Given the description of an element on the screen output the (x, y) to click on. 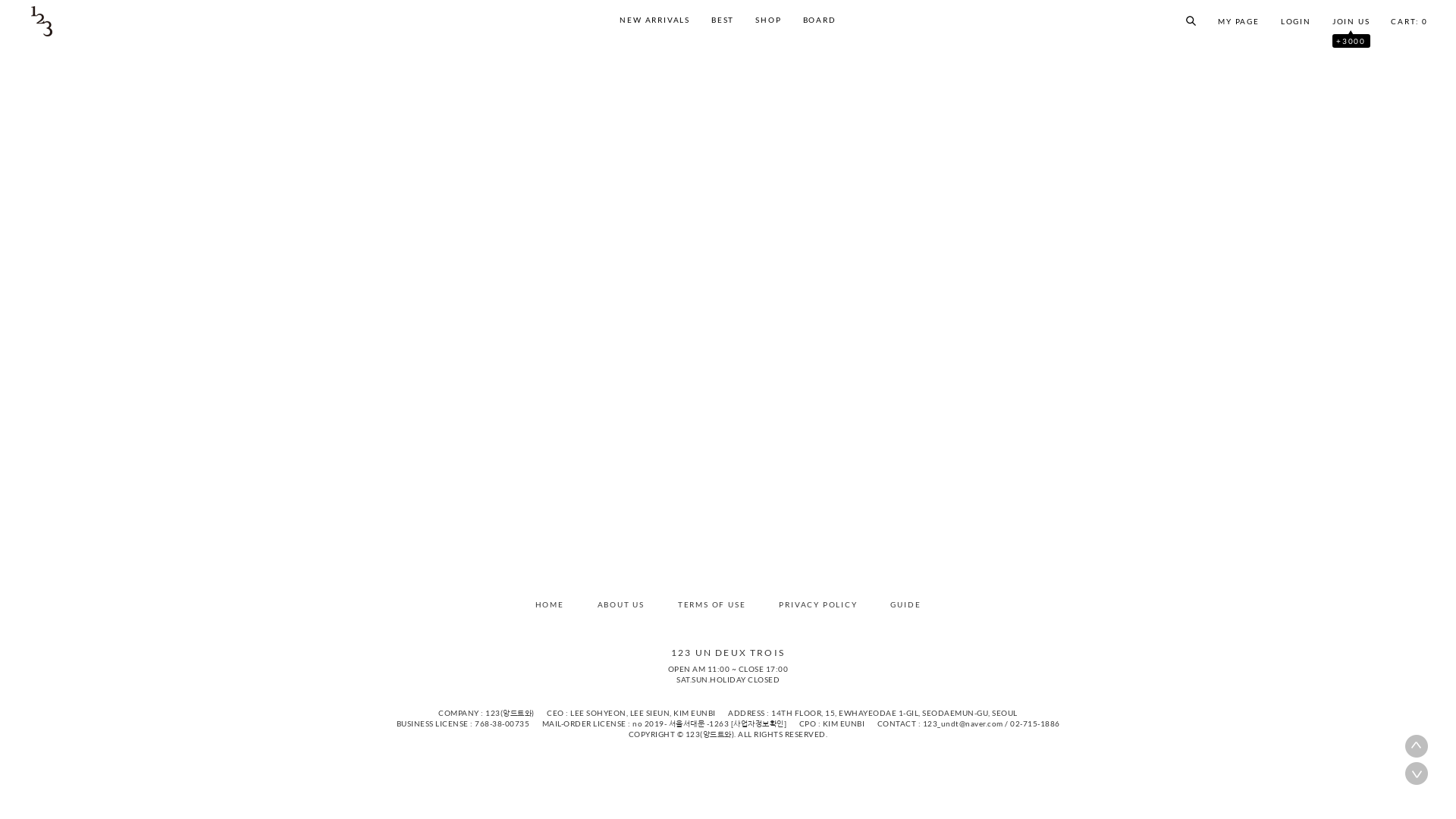
SHOP Element type: text (768, 19)
BEST Element type: text (722, 19)
LOGIN Element type: text (1295, 20)
PRIVACY POLICY Element type: text (817, 603)
NEW ARRIVALS Element type: text (654, 19)
TERMS OF USE Element type: text (711, 603)
ABOUT US Element type: text (620, 603)
HOME Element type: text (549, 603)
MY PAGE Element type: text (1238, 20)
JOIN US
+3000 Element type: text (1351, 20)
BOARD Element type: text (818, 19)
CART: 0 Element type: text (1408, 20)
GUIDE Element type: text (905, 603)
